Given the description of an element on the screen output the (x, y) to click on. 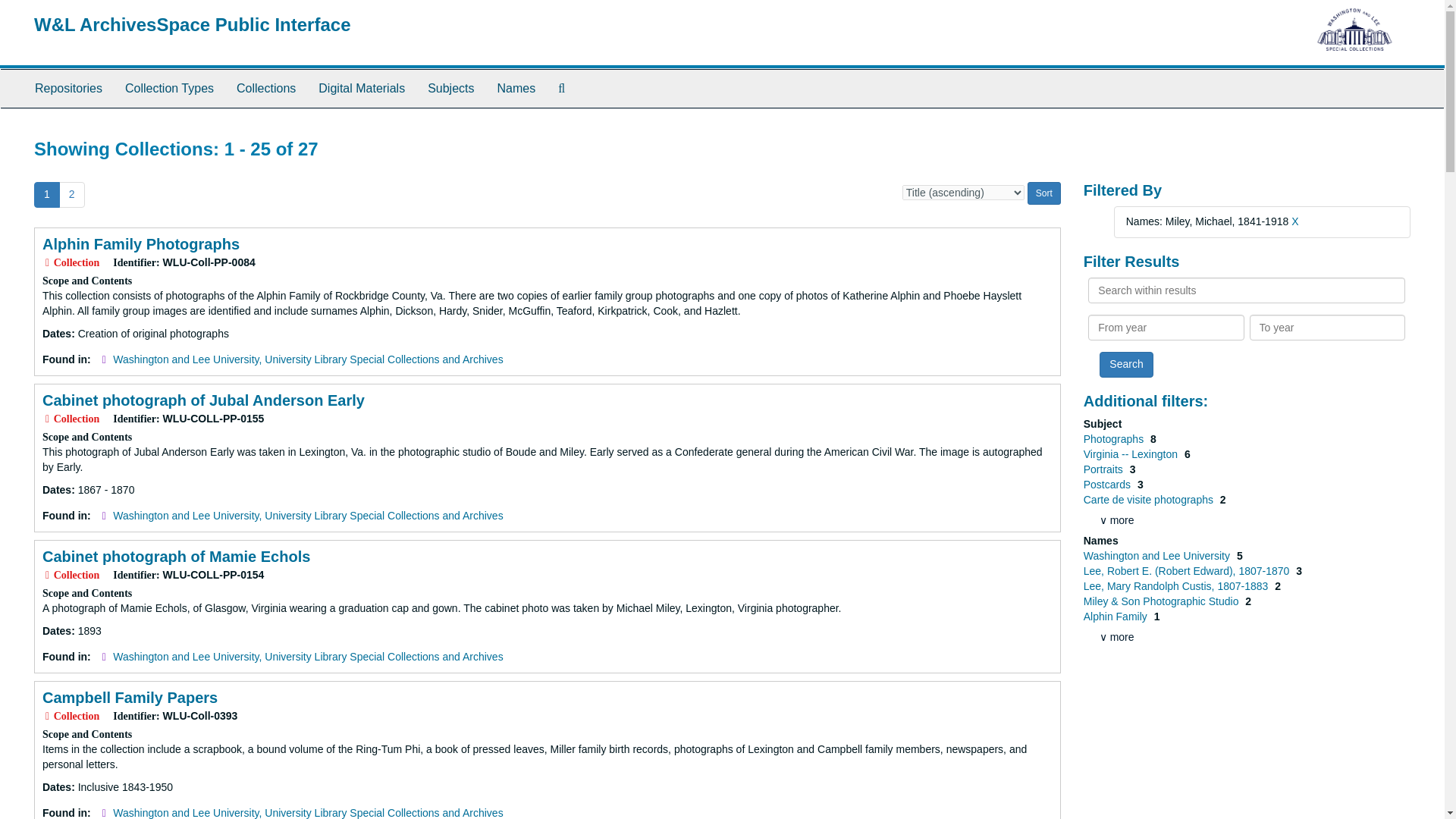
Filter By 'Postcards' (1108, 484)
Subjects (450, 88)
Filter By 'Photographs' (1115, 439)
Alphin Family Photographs (141, 243)
Digital Materials (361, 88)
Cabinet photograph of Mamie Echols (176, 556)
Collection Types (169, 88)
Repositories (68, 88)
Names (515, 88)
